Given the description of an element on the screen output the (x, y) to click on. 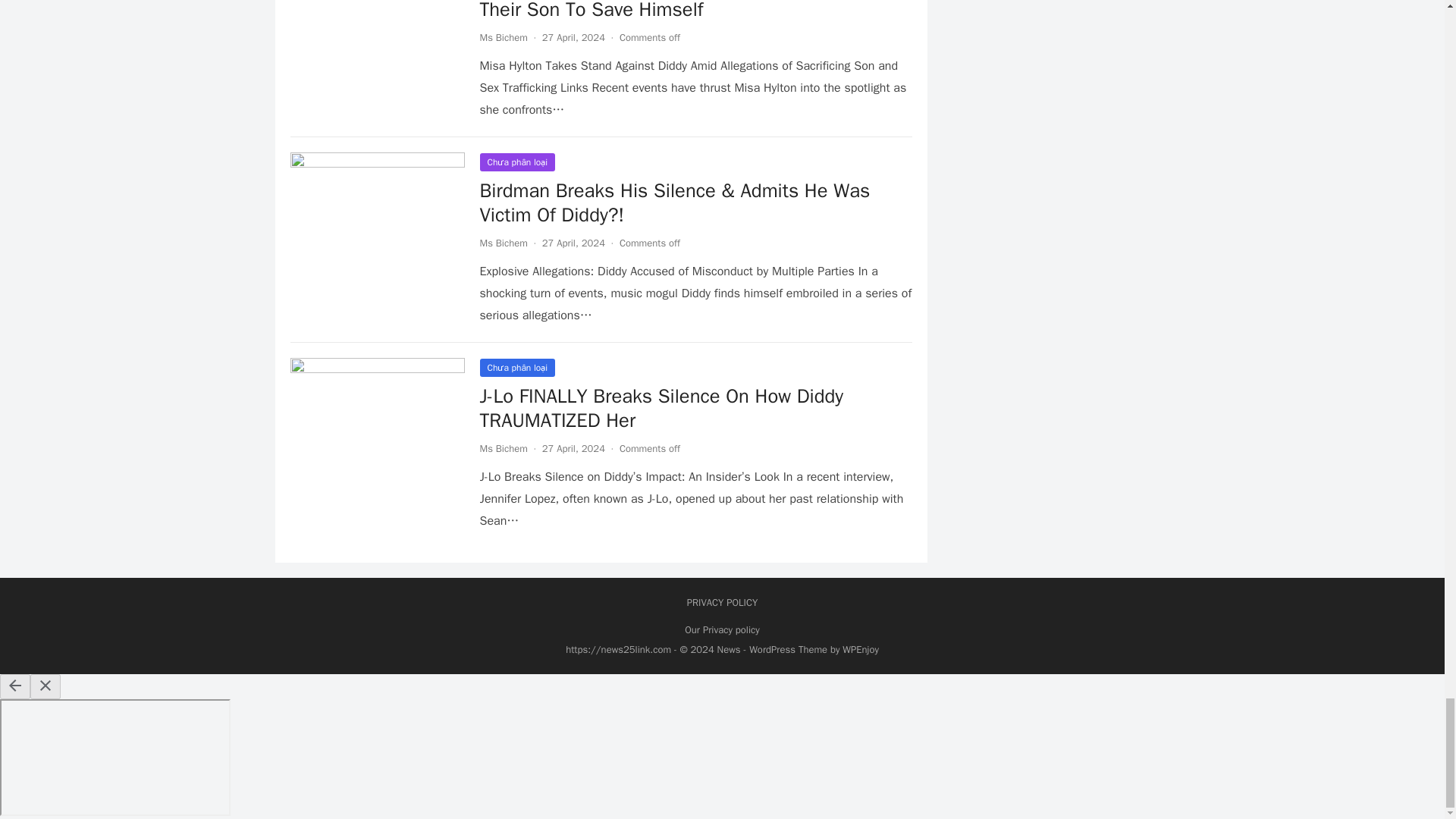
Posts by Ms Bichem (503, 448)
Posts by Ms Bichem (503, 37)
Posts by Ms Bichem (503, 242)
